Given the description of an element on the screen output the (x, y) to click on. 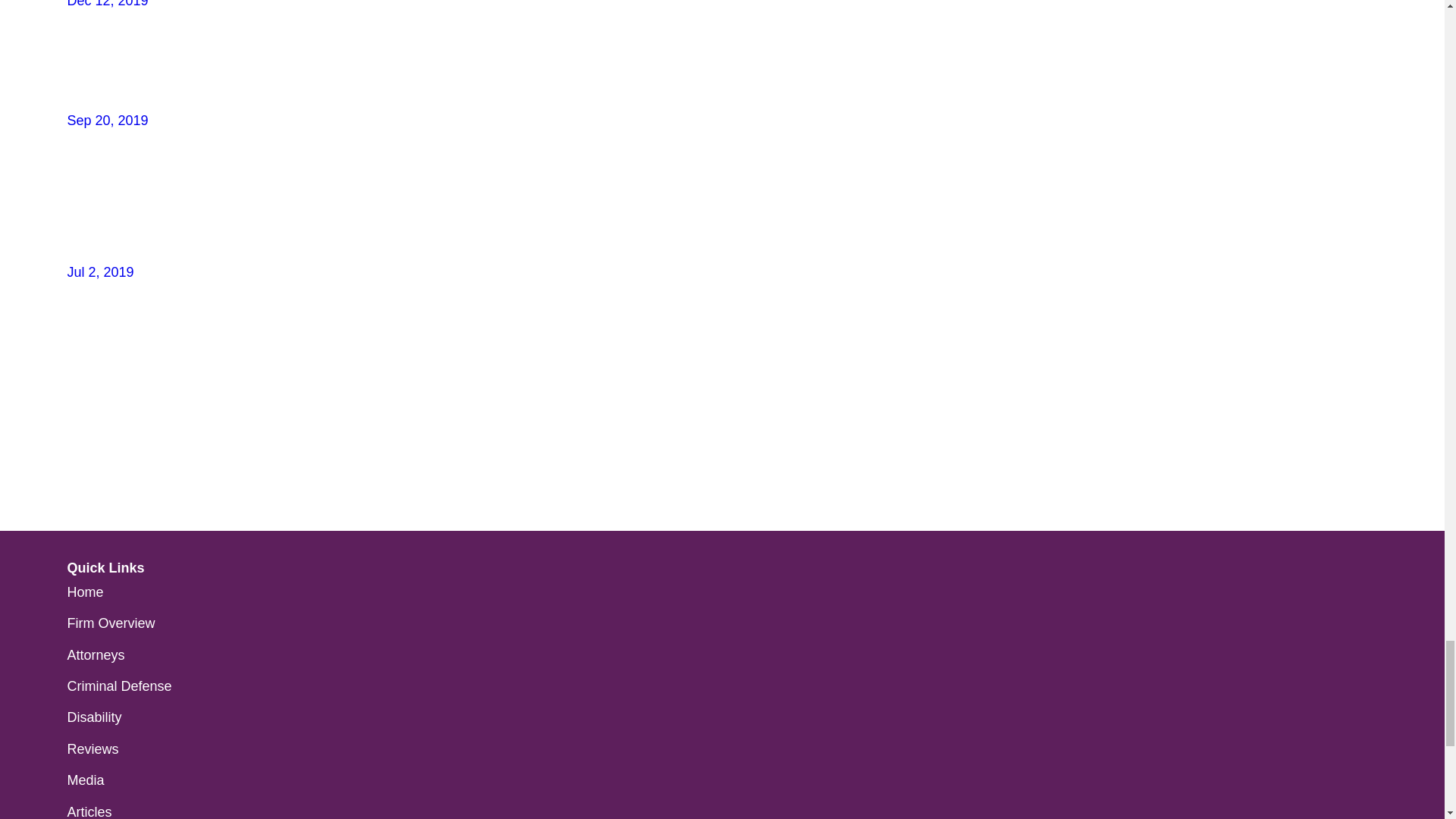
View previous item (73, 386)
View next item (73, 411)
